Given the description of an element on the screen output the (x, y) to click on. 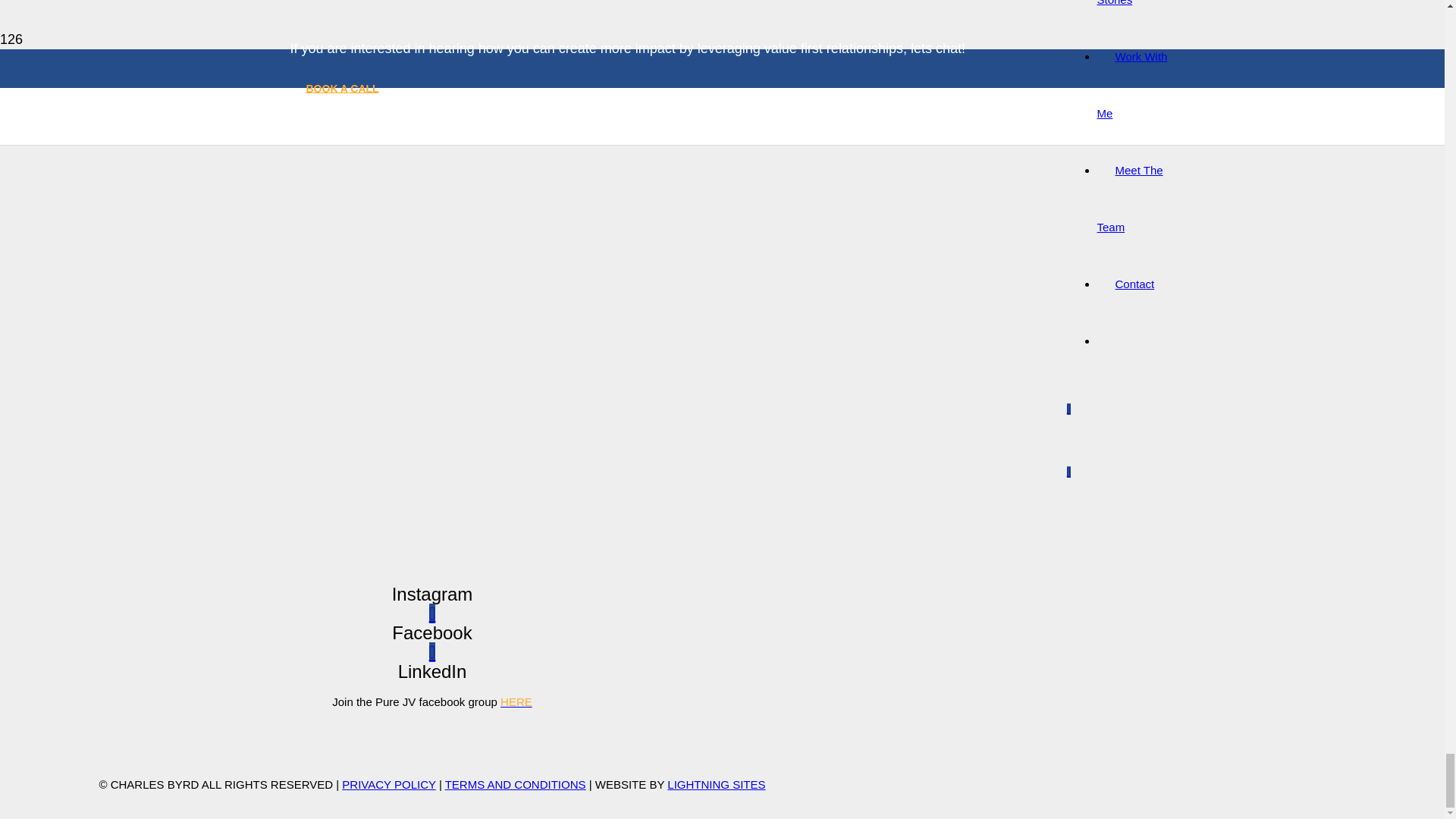
HERE (516, 701)
LIGHTNING SITES (715, 784)
PRIVACY POLICY (388, 784)
TERMS AND CONDITIONS (515, 784)
